Given the description of an element on the screen output the (x, y) to click on. 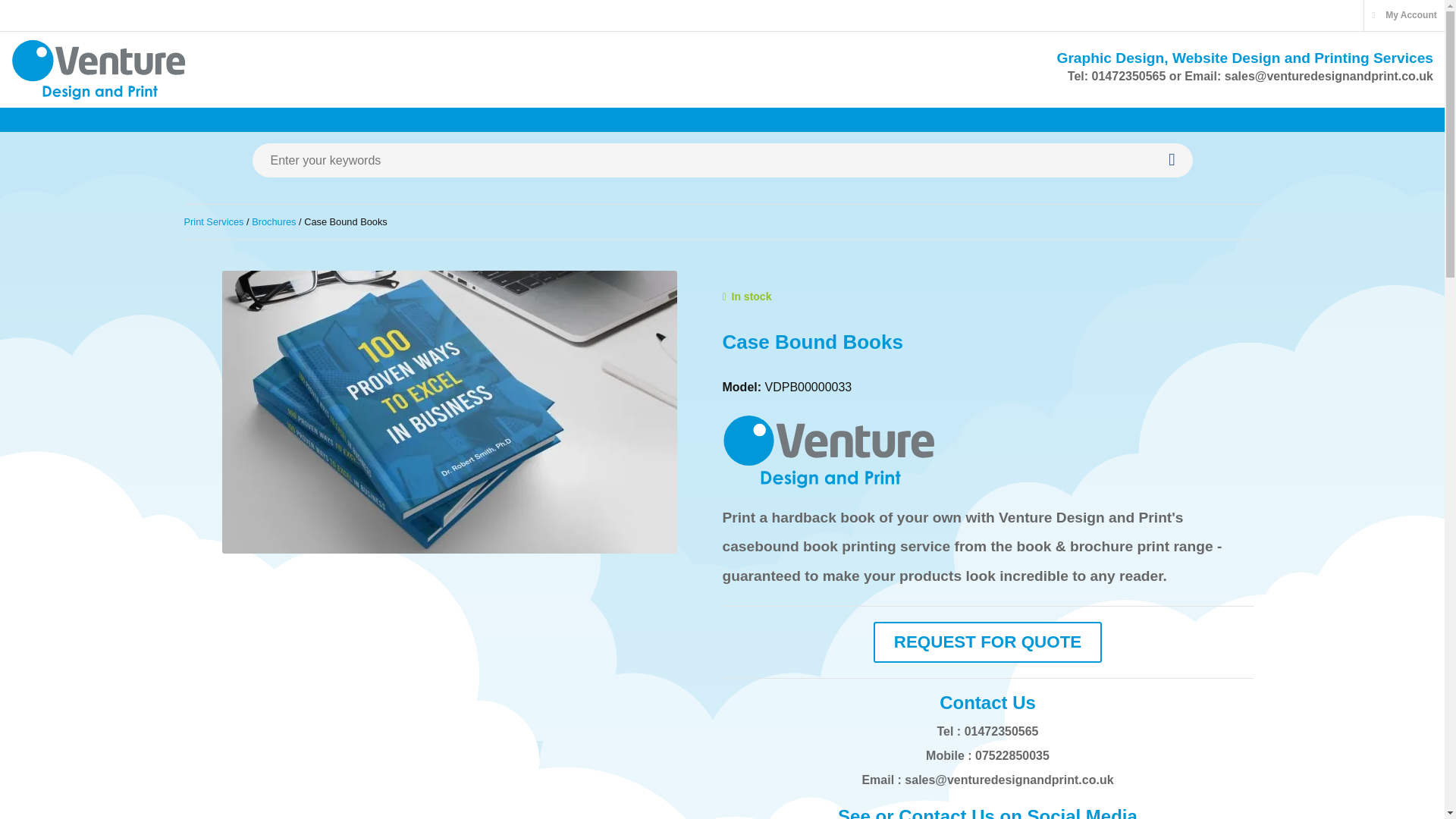
Casebound Hard Back Books (449, 412)
Print Services (213, 221)
Brochures (273, 221)
My Account (1404, 15)
